Given the description of an element on the screen output the (x, y) to click on. 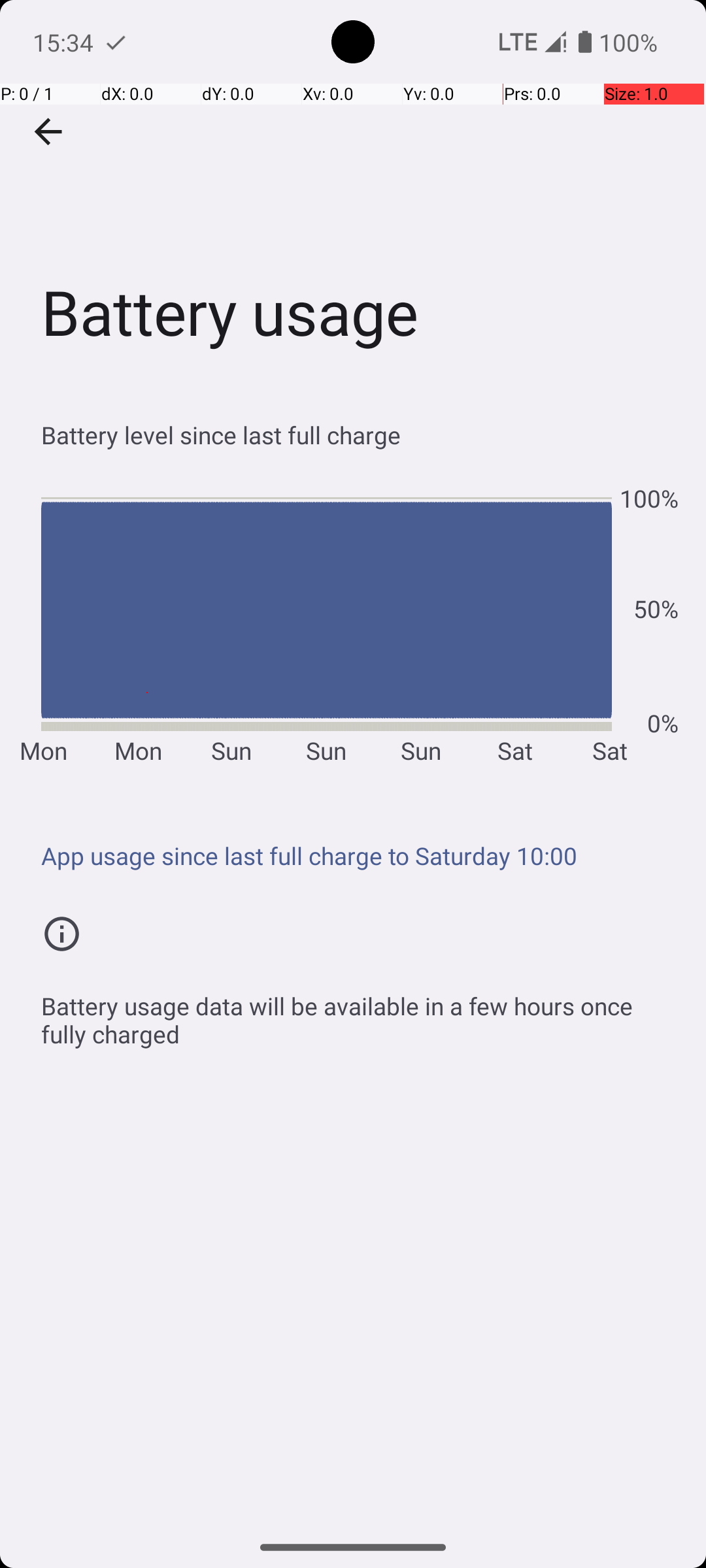
Battery level since last full charge Element type: android.widget.TextView (359, 434)
App usage since last full charge to Saturday 10:00 Element type: android.widget.TextView (359, 855)
Battery usage data will be available in a few hours once fully charged Element type: android.widget.TextView (359, 1012)
